Given the description of an element on the screen output the (x, y) to click on. 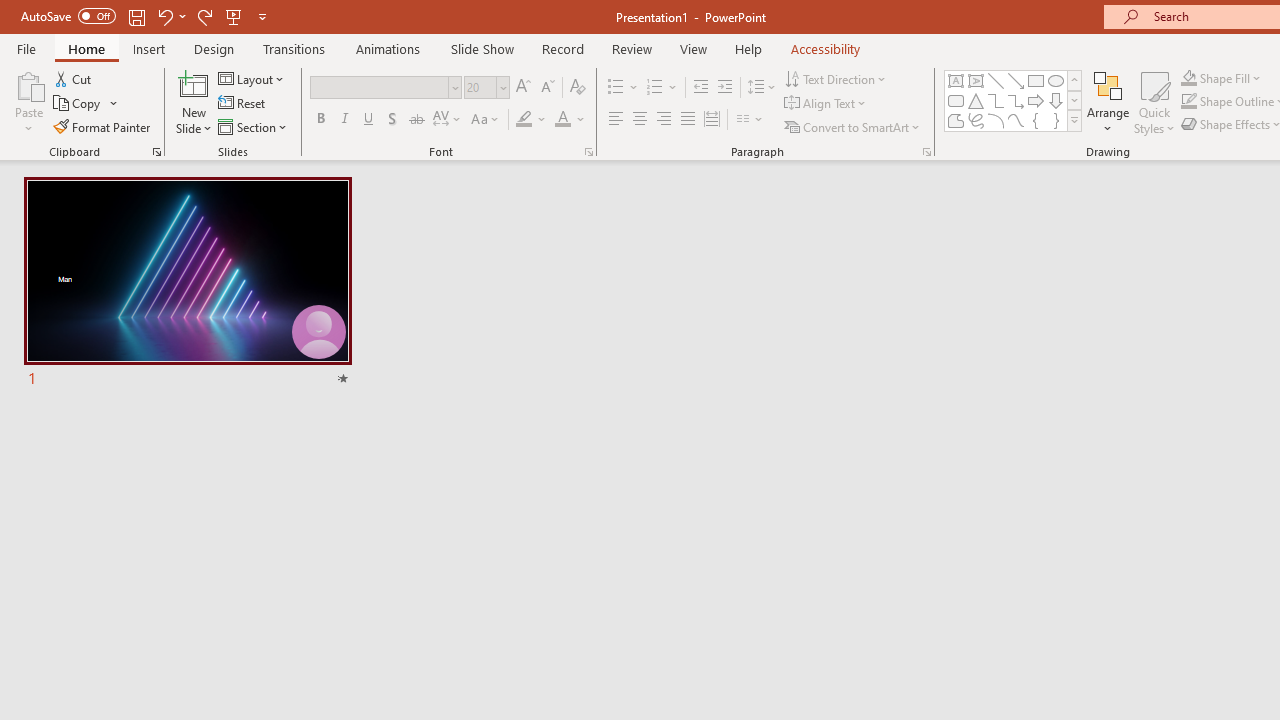
Text Direction (836, 78)
Align Text (826, 103)
Curve (1016, 120)
Italic (344, 119)
Connector: Elbow Arrow (1016, 100)
